Given the description of an element on the screen output the (x, y) to click on. 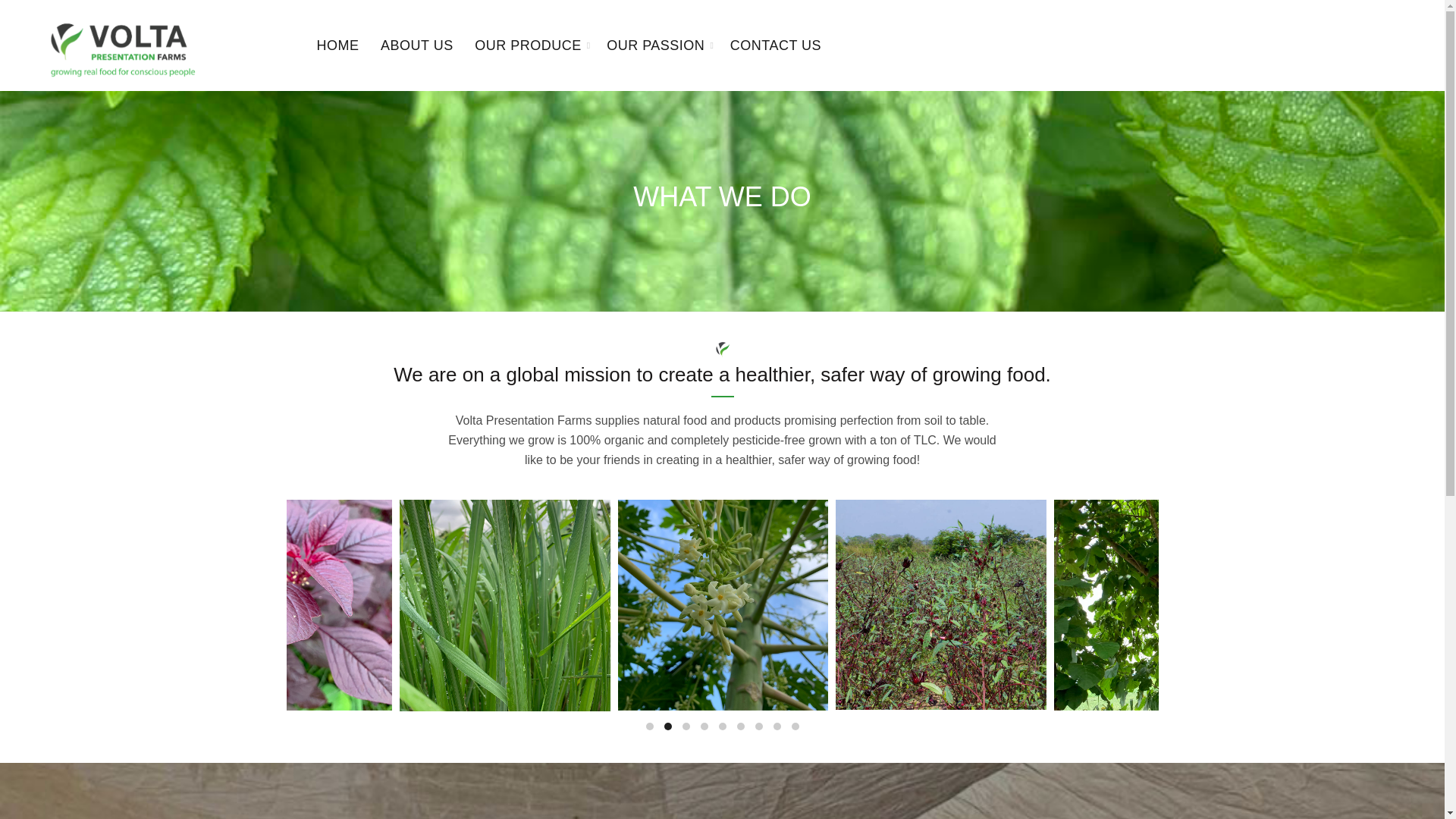
CONTACT US (775, 45)
OUR PASSION (655, 45)
ABOUT US (417, 45)
OUR PRODUCE (527, 45)
HOME (338, 45)
Z (940, 604)
